Given the description of an element on the screen output the (x, y) to click on. 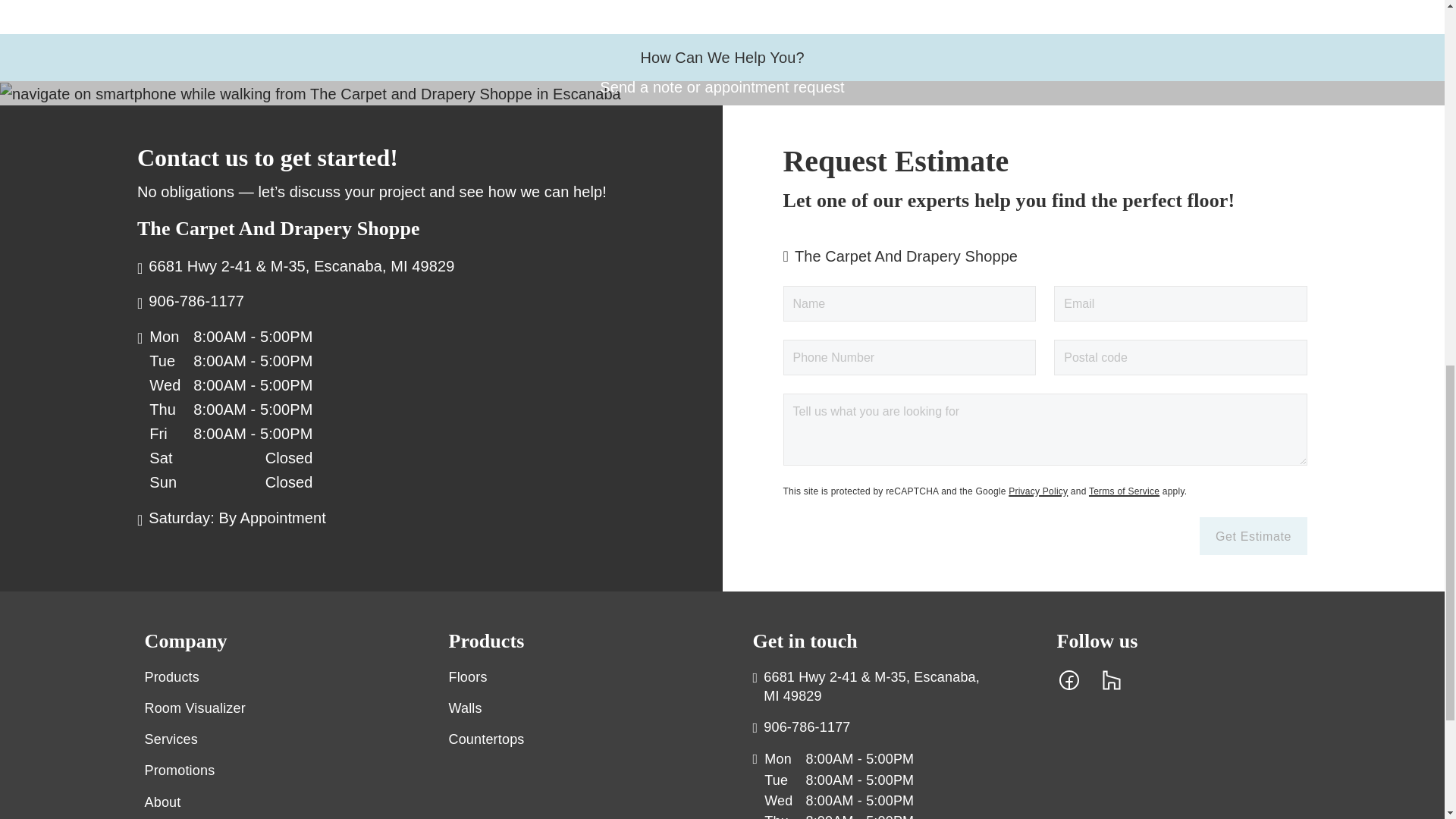
The Carpet and Drapery Shoppe on Facebook (1069, 679)
The Carpet and Drapery Shoppe on Houzz (1111, 679)
